Given the description of an element on the screen output the (x, y) to click on. 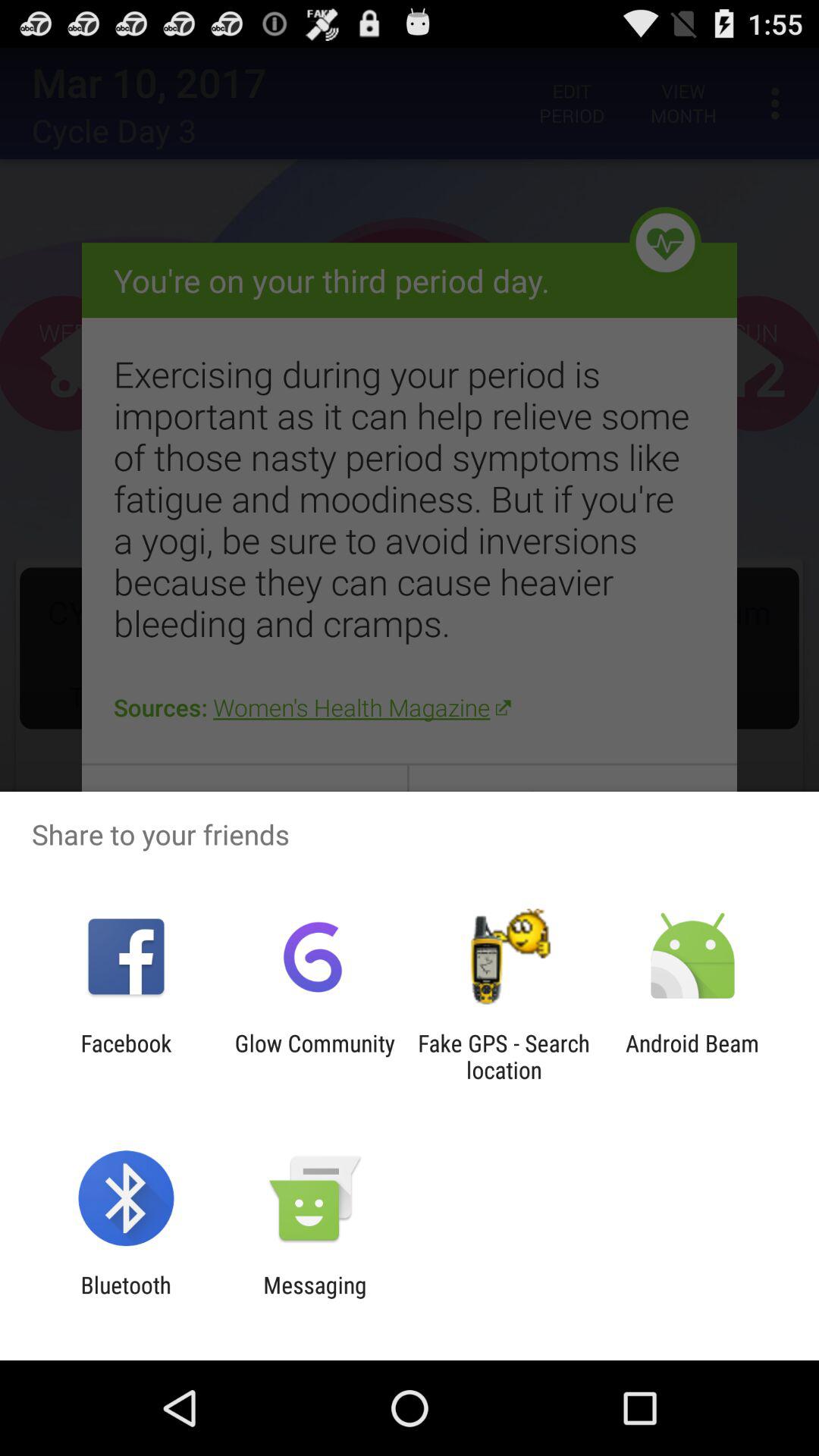
turn off the icon next to glow community (125, 1056)
